Given the description of an element on the screen output the (x, y) to click on. 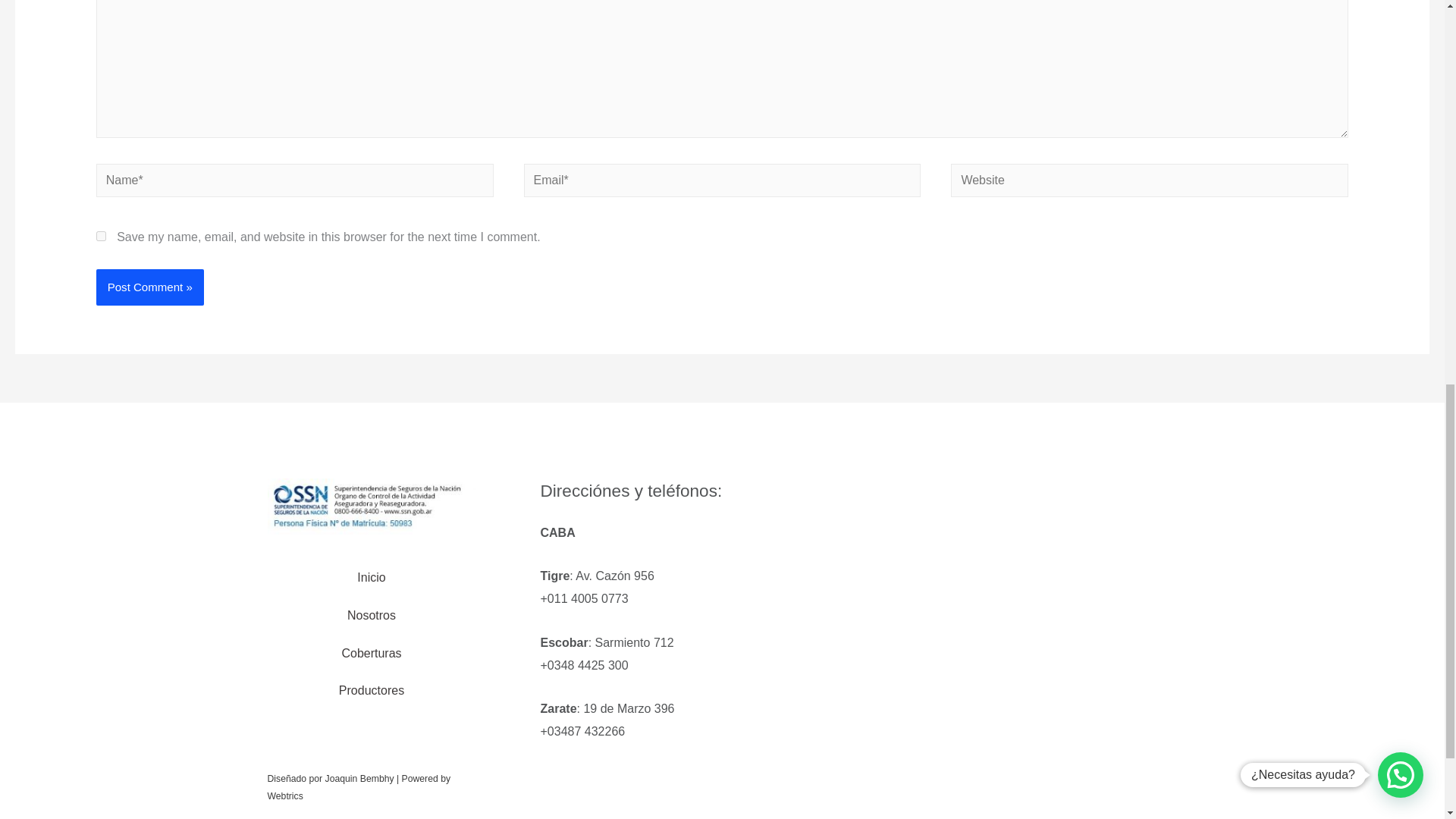
Coberturas (371, 653)
yes (101, 235)
Productores (371, 690)
Nosotros (371, 615)
Inicio (371, 577)
